Given the description of an element on the screen output the (x, y) to click on. 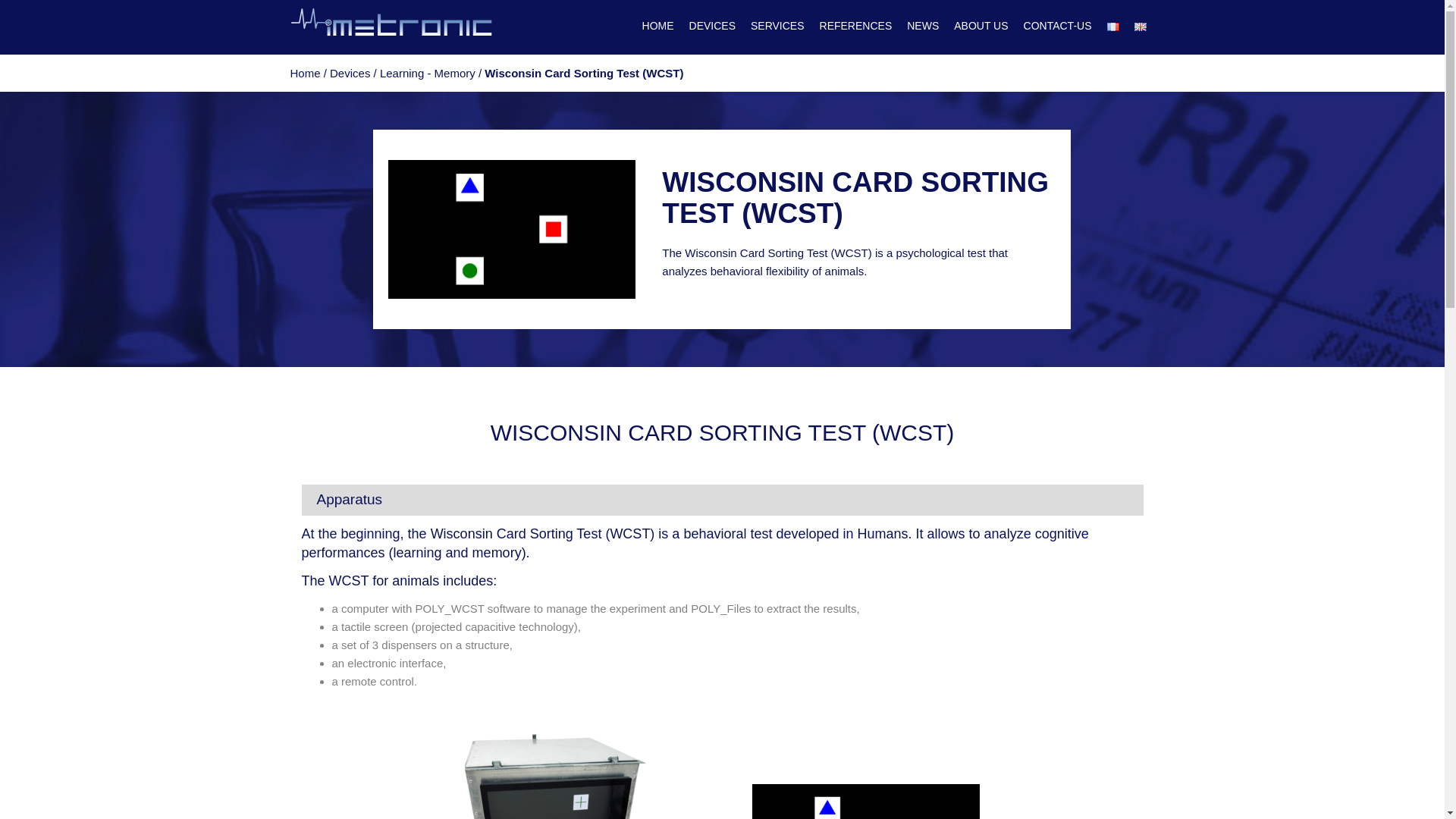
CONTACT-US (1057, 25)
DEVICES (711, 25)
Learning - Memory (428, 72)
NEWS (923, 25)
Devices (349, 72)
HOME (658, 25)
REFERENCES (855, 25)
Home (304, 72)
SERVICES (778, 25)
ABOUT US (980, 25)
